Given the description of an element on the screen output the (x, y) to click on. 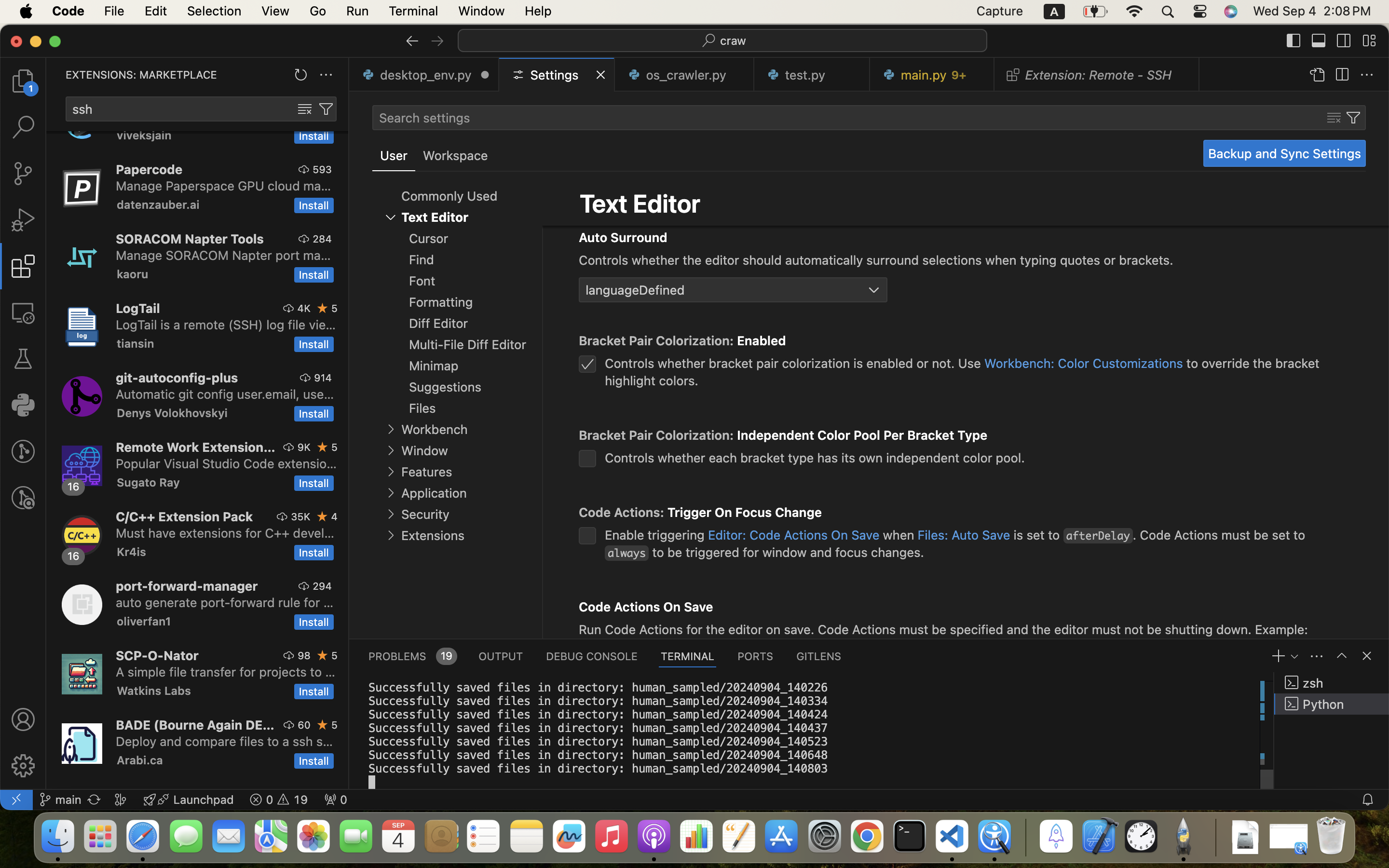
craw Element type: AXStaticText (733, 40)
Manage Paperspace GPU cloud machines directly from VS Code. Open with just one click a remote VS Code session, streamlining your machine learning & data science process and increasing productivity. Element type: AXStaticText (223, 185)
98 Element type: AXStaticText (304, 655)
Remote Work Extension Pack Element type: AXStaticText (195, 446)
 Element type: AXStaticText (304, 168)
